Given the description of an element on the screen output the (x, y) to click on. 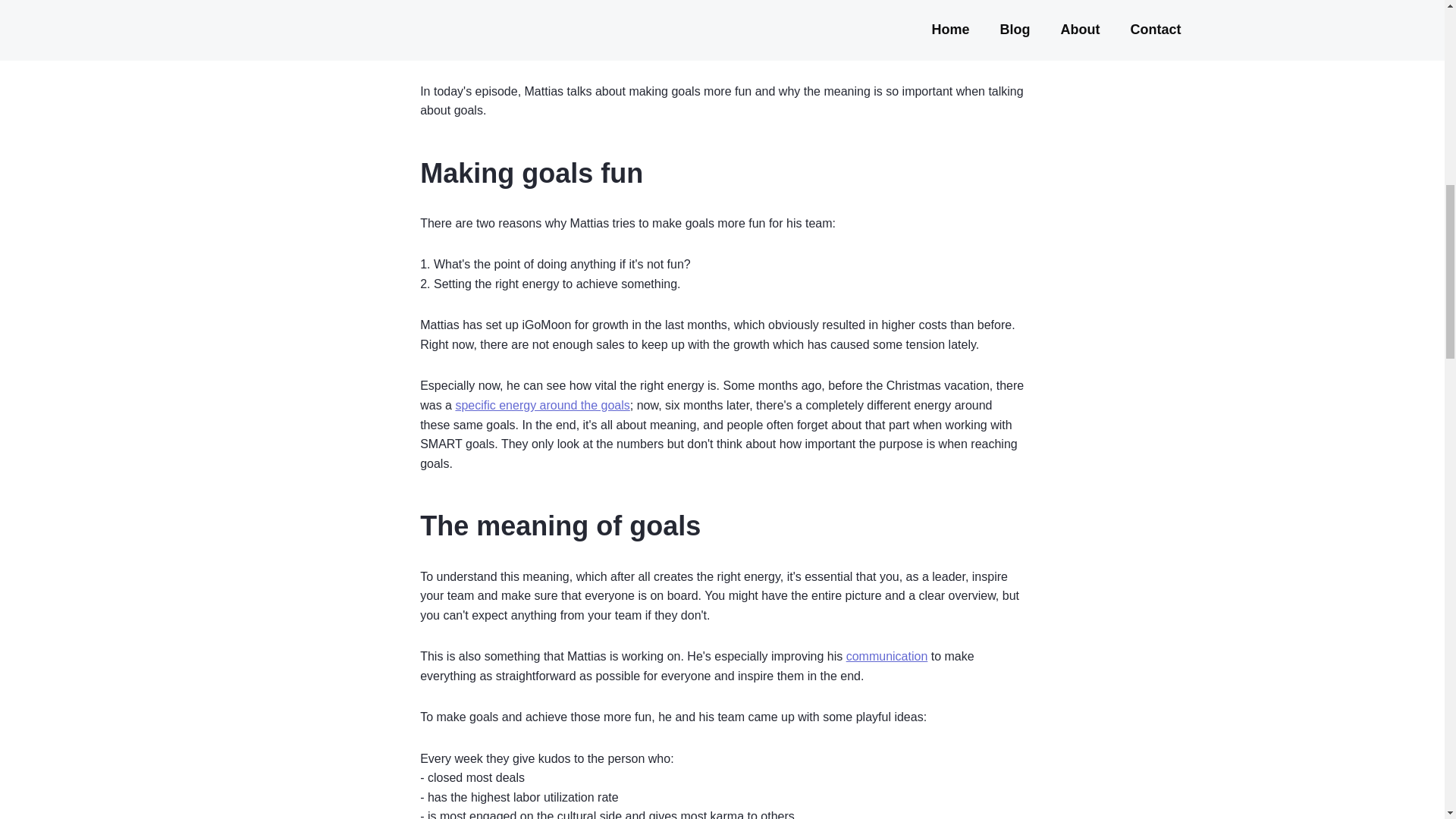
specific energy around the goals (541, 404)
communication (886, 656)
YouTube video player (722, 25)
